Given the description of an element on the screen output the (x, y) to click on. 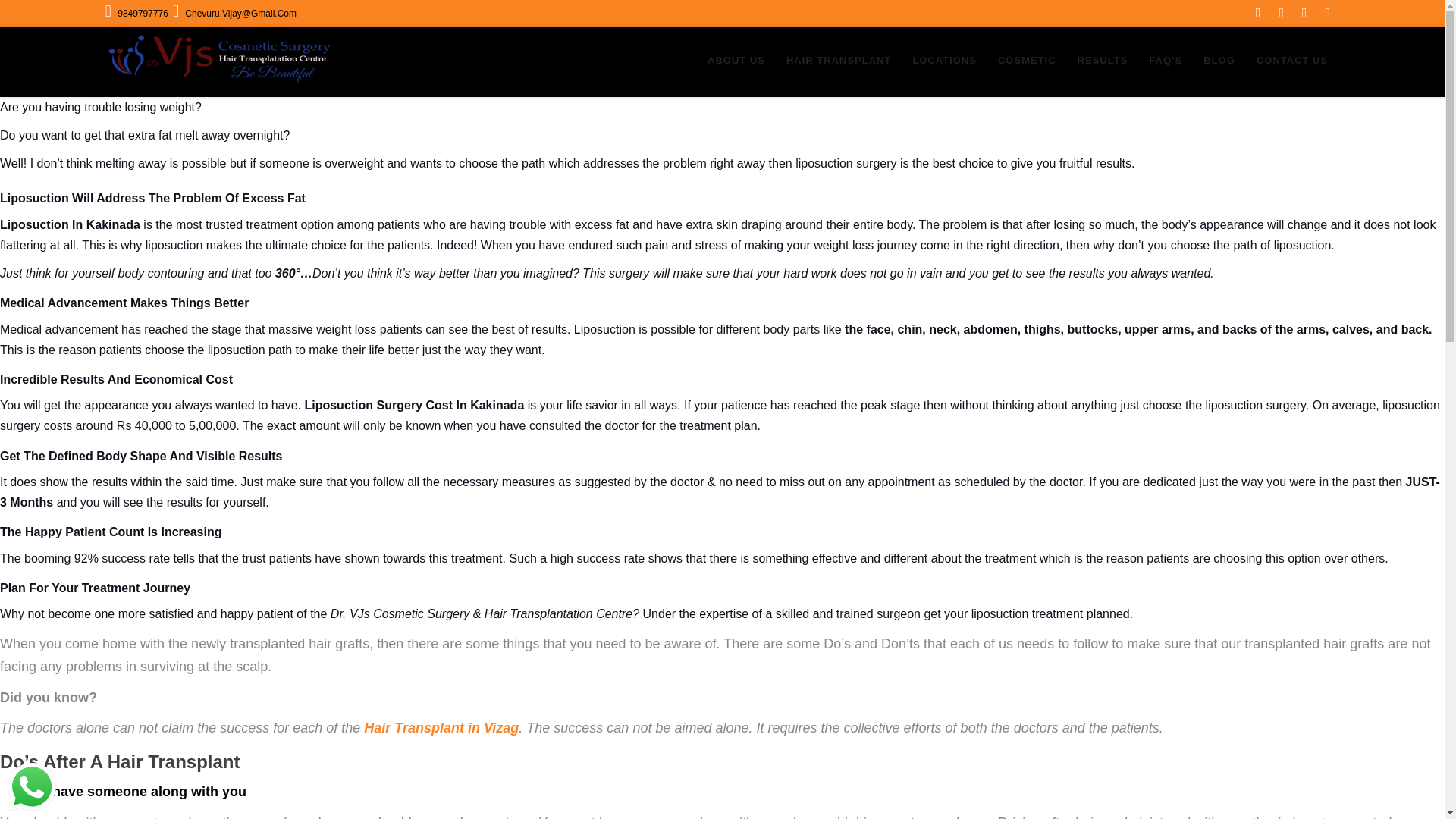
LOCATIONS (944, 61)
HAIR TRANSPLANT (839, 61)
ABOUT US (736, 61)
